Given the description of an element on the screen output the (x, y) to click on. 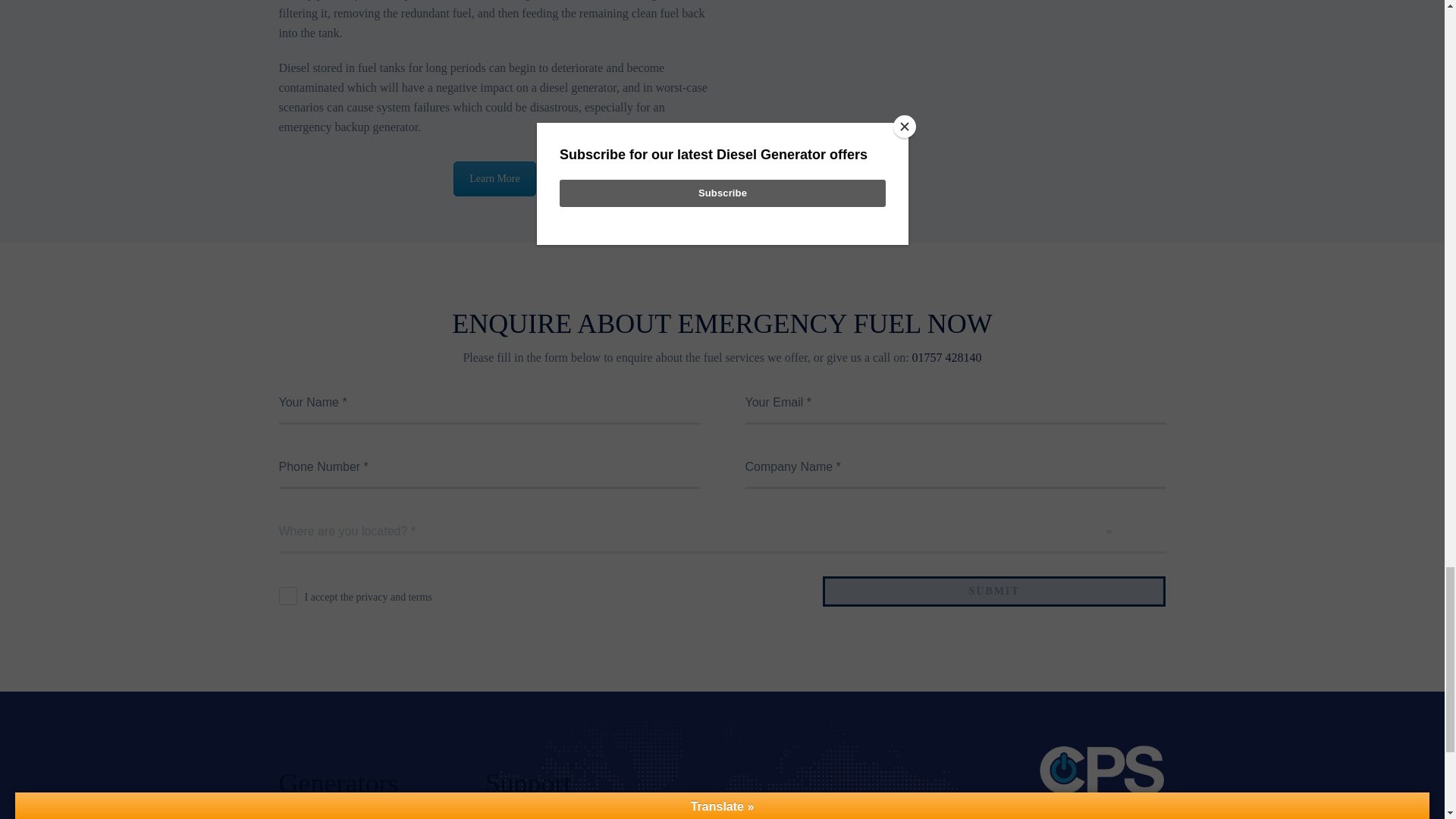
Contact Us (493, 178)
1 (288, 596)
Submit (994, 591)
